Given the description of an element on the screen output the (x, y) to click on. 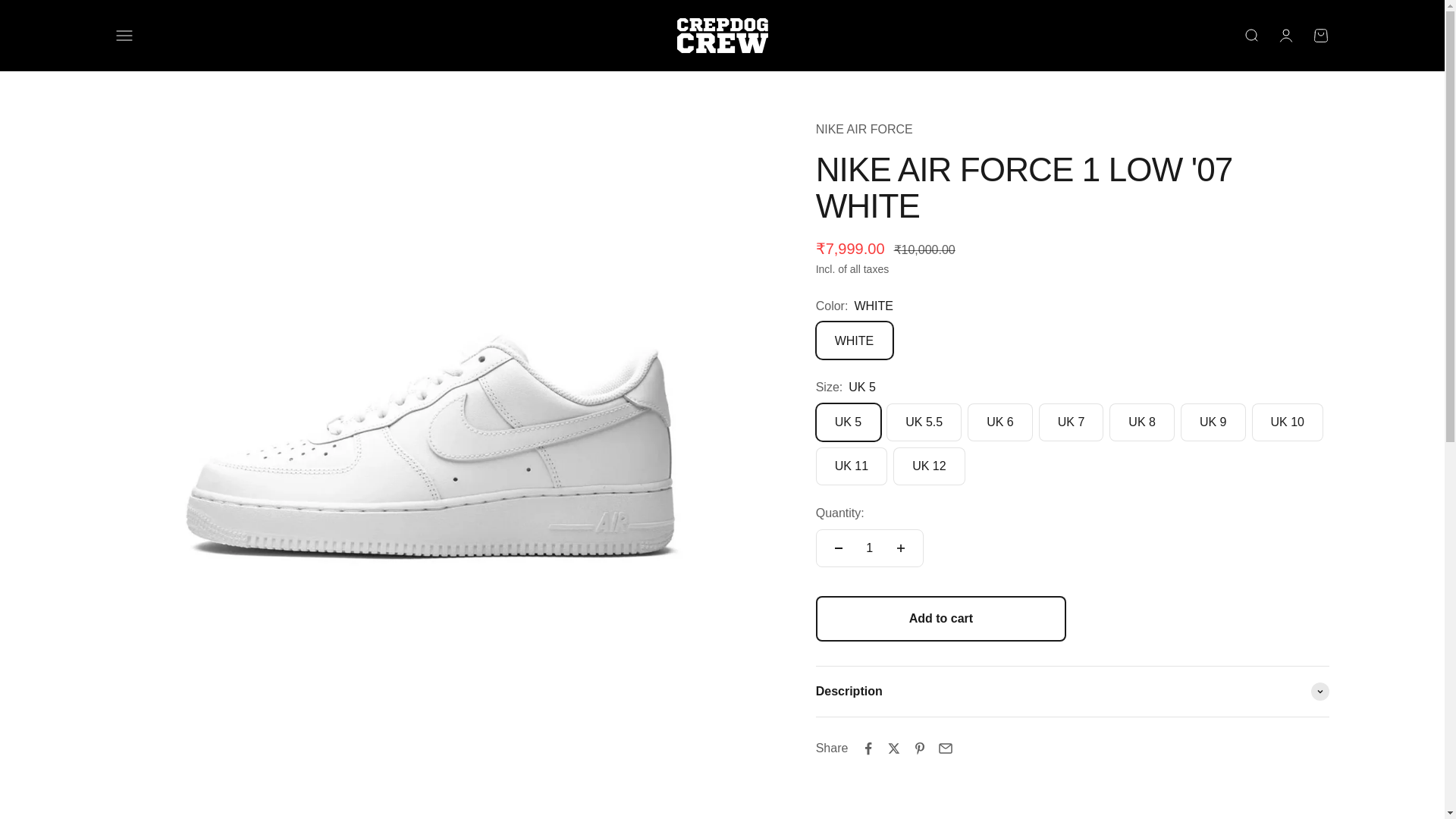
UK 5 (1319, 35)
OPEN ACCOUNT PAGE (863, 128)
OPEN SEARCH (1285, 35)
WHITE (1250, 35)
